Given the description of an element on the screen output the (x, y) to click on. 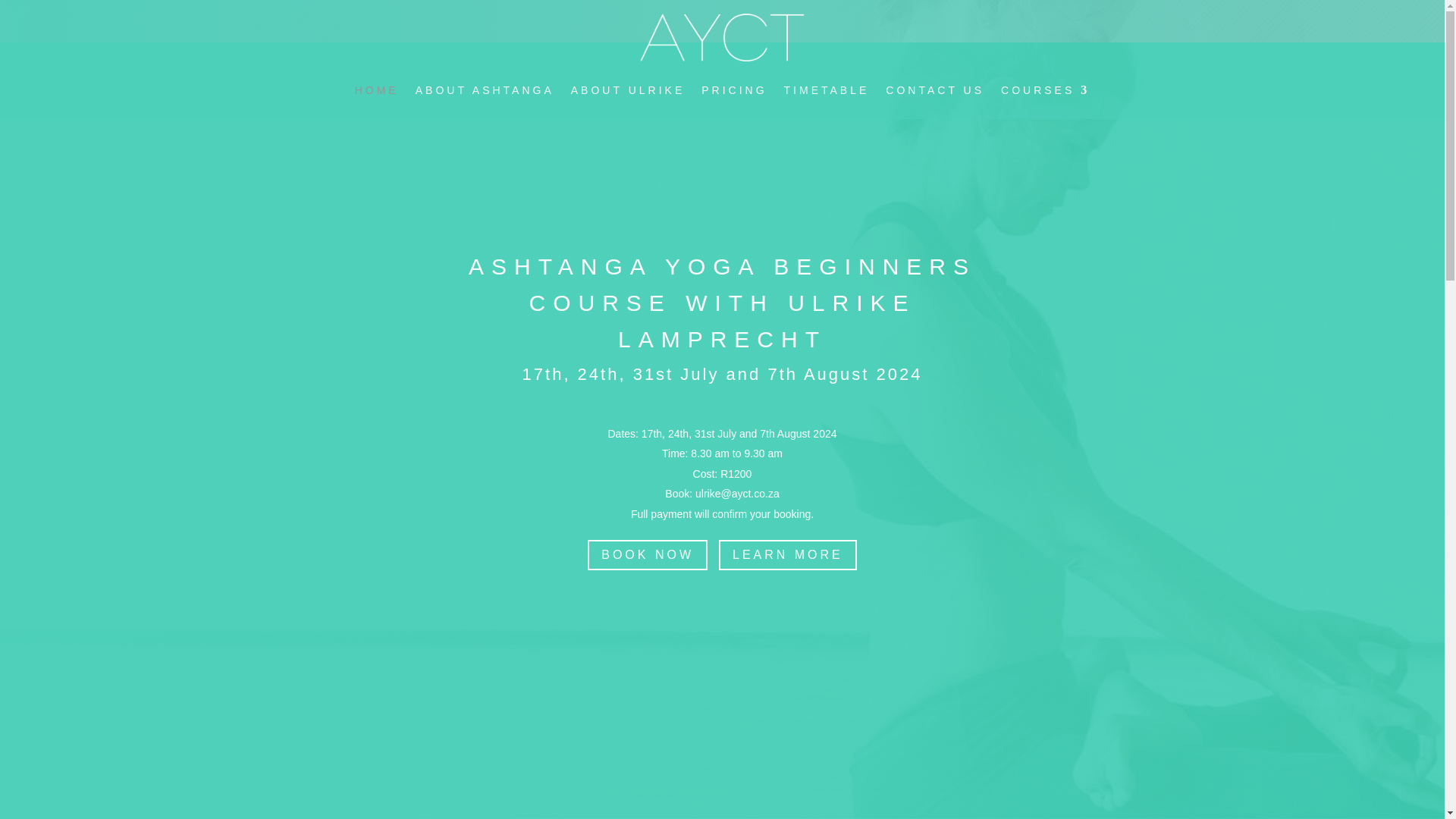
CONTACT US (934, 89)
PRICING (734, 89)
COURSES (1045, 89)
LEARN MORE (788, 554)
ABOUT ASHTANGA (484, 89)
ABOUT ULRIKE (627, 89)
BOOK NOW (647, 554)
TIMETABLE (826, 89)
